Given the description of an element on the screen output the (x, y) to click on. 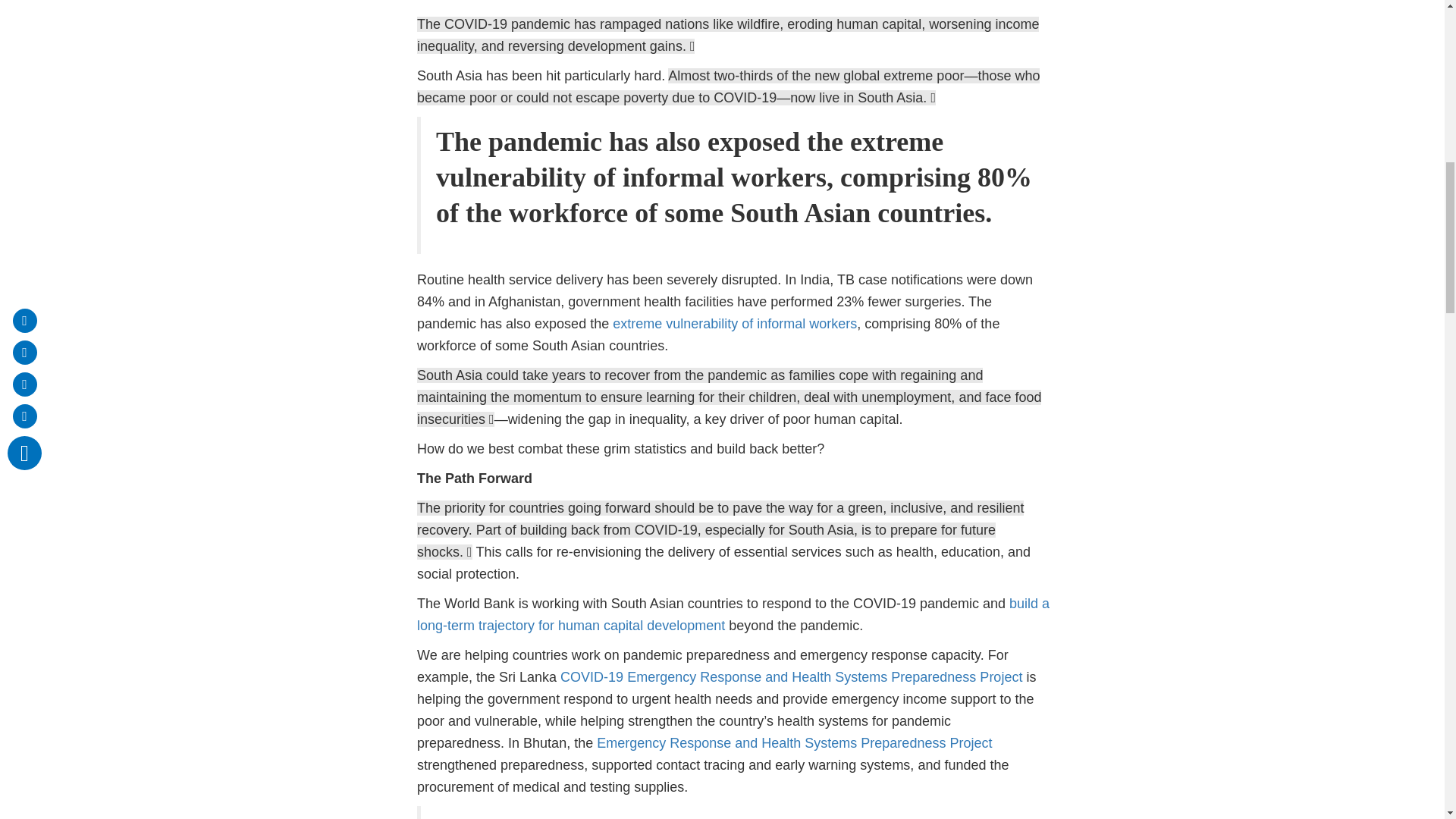
extreme vulnerability of informal workers (734, 323)
Emergency Response and Health Systems Preparedness Project (793, 743)
build a long-term trajectory for human capital development (732, 614)
